Given the description of an element on the screen output the (x, y) to click on. 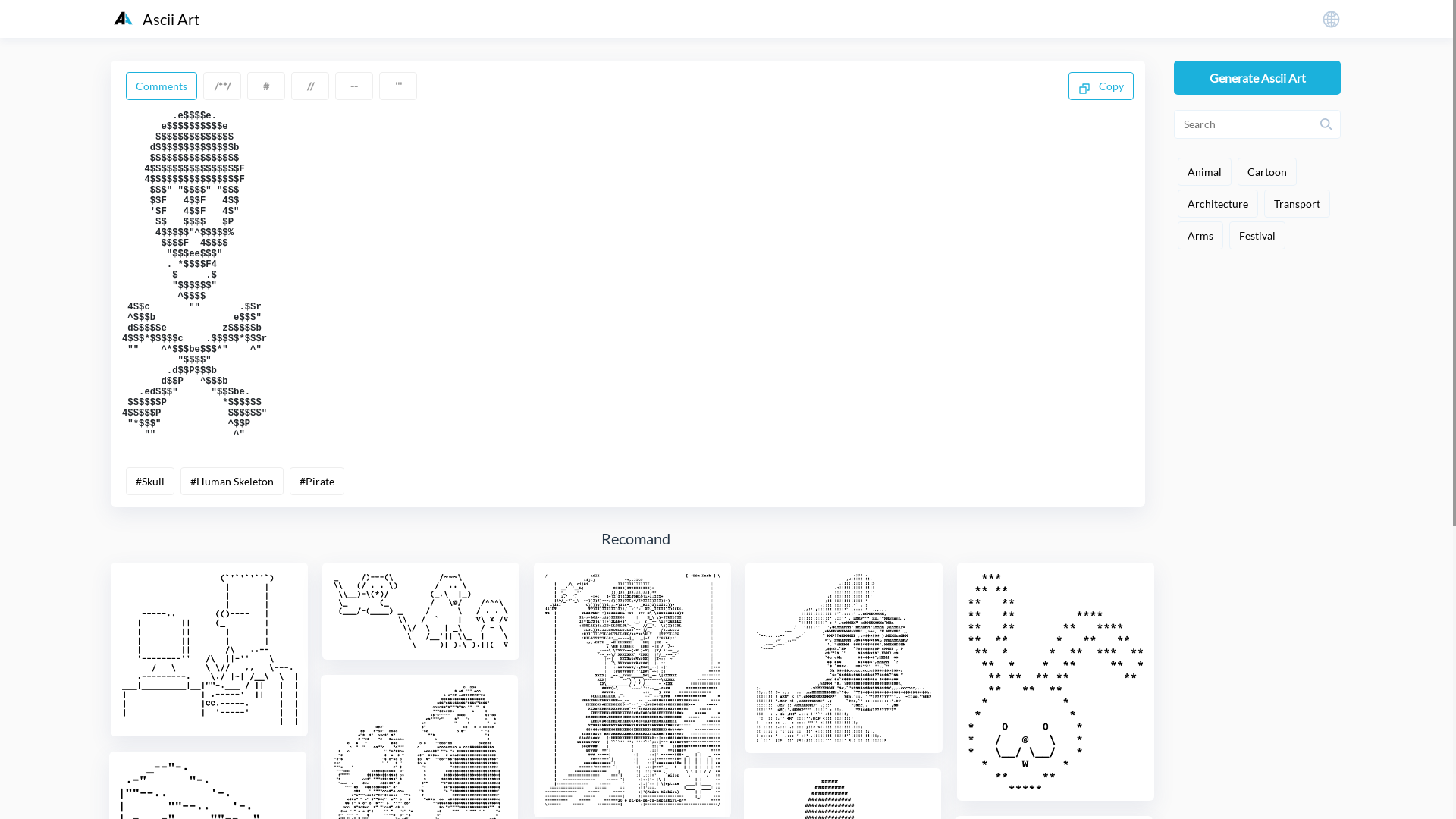
#Pirate Element type: text (316, 480)
Cartoon Dilbert Element type: hover (209, 649)
Animal Rabbit Element type: hover (1055, 681)
Arms Element type: text (1200, 235)
Animal Dog Element type: hover (420, 611)
Animal Element type: text (1204, 171)
Cartoon Donald Duck Element type: hover (843, 657)
Cartoon Element type: text (1266, 171)
Festival Element type: text (1257, 235)
#Human Skeleton Element type: text (231, 480)
Architecture Element type: text (1217, 203)
Generate Ascii Art Element type: text (1256, 77)
Copy Element type: text (1100, 86)
Ascii Art Element type: text (155, 18)
#Skull Element type: text (149, 480)
Transport Element type: text (1297, 203)
Girl Sailor Moon Element type: hover (632, 690)
